Given the description of an element on the screen output the (x, y) to click on. 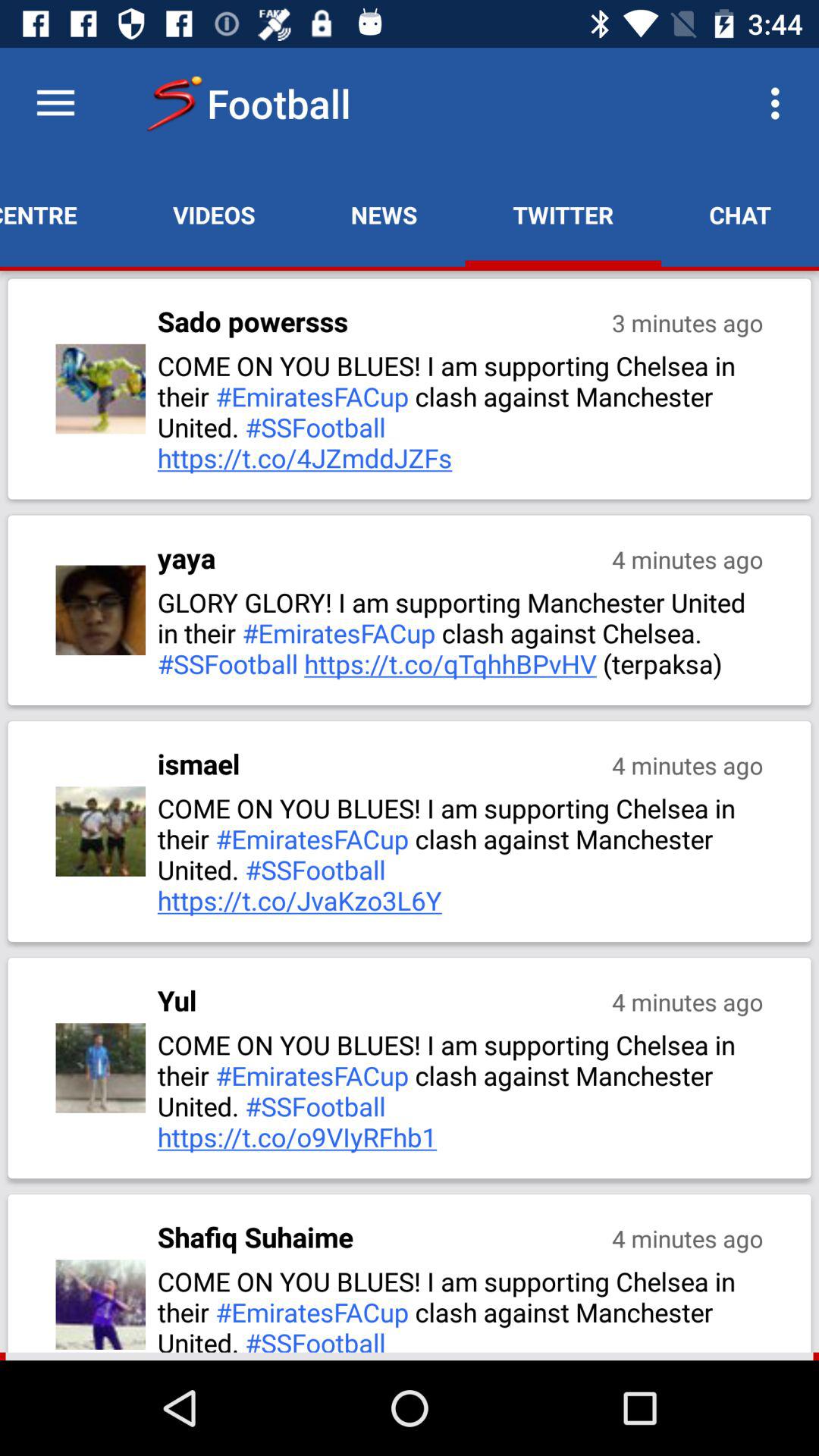
tap the item next to videos app (62, 214)
